Given the description of an element on the screen output the (x, y) to click on. 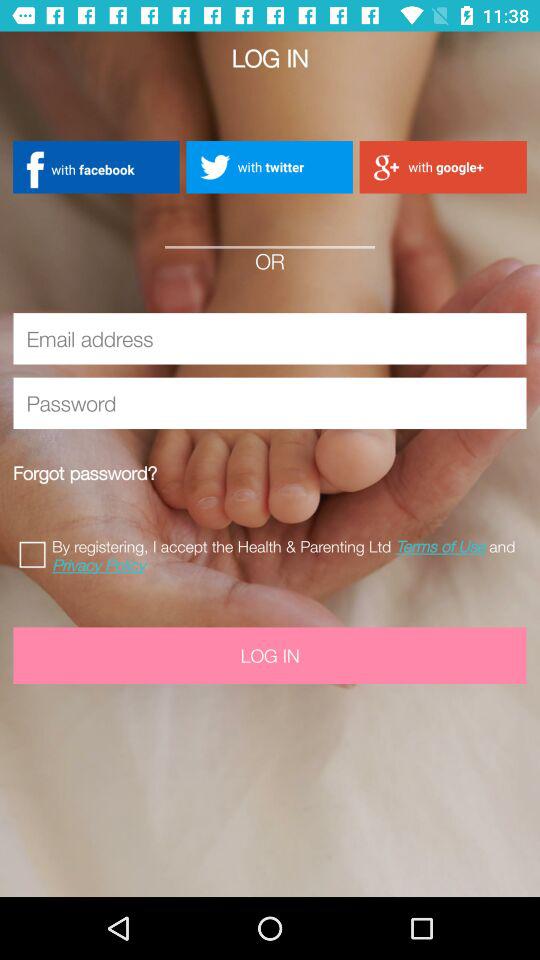
enter email login (269, 338)
